Given the description of an element on the screen output the (x, y) to click on. 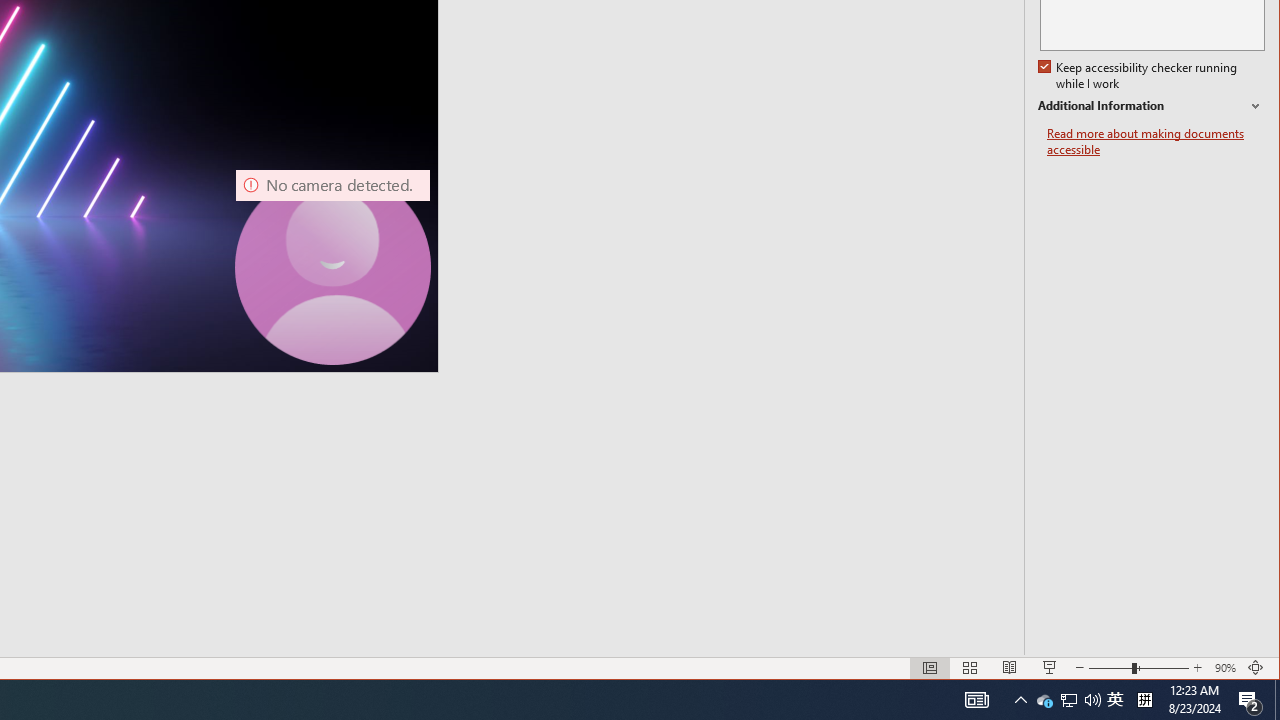
Additional Information (1151, 106)
Zoom 90% (1225, 668)
